Given the description of an element on the screen output the (x, y) to click on. 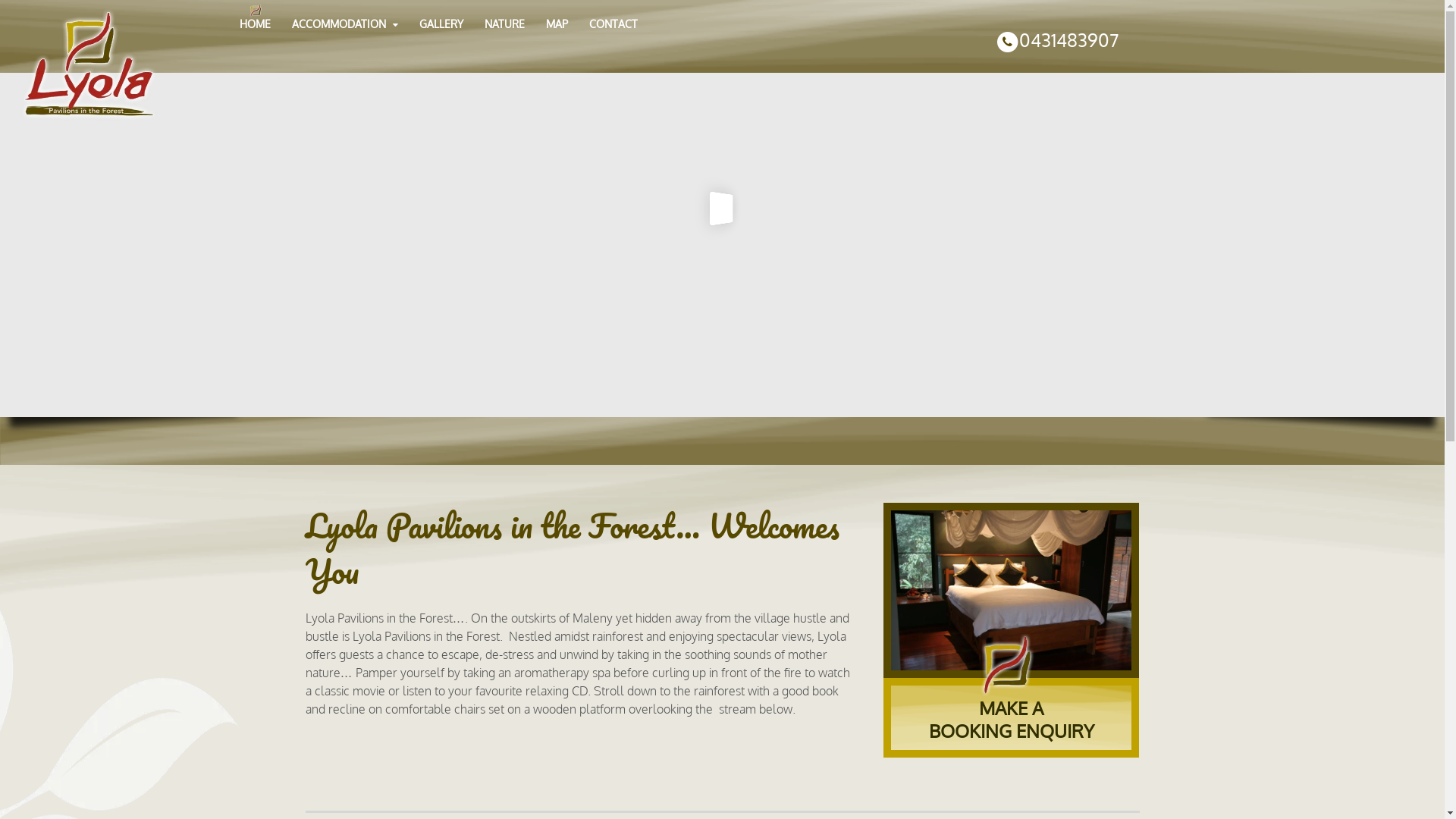
GALLERY Element type: text (440, 24)
HOME Element type: text (255, 24)
MAKE A
BOOKING ENQUIRY Element type: text (1011, 717)
ACCOMMODATION Element type: text (345, 24)
NATURE Element type: text (504, 24)
CONTACT Element type: text (613, 24)
MAP Element type: text (556, 24)
